Given the description of an element on the screen output the (x, y) to click on. 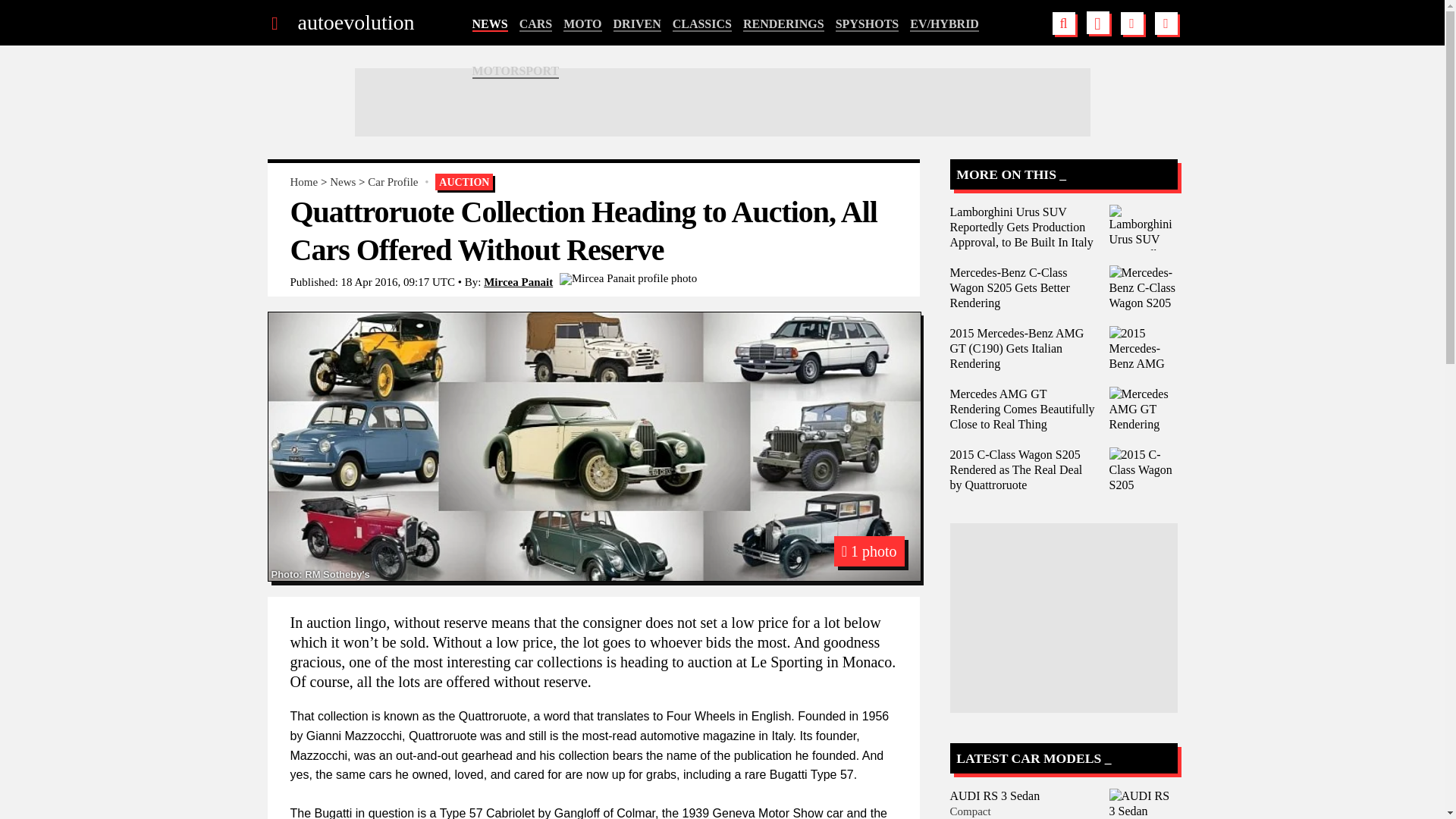
SPYSHOTS (867, 24)
Home (303, 182)
News (342, 182)
NEWS (488, 24)
autoevolution (355, 22)
CLASSICS (702, 24)
Car Profile (392, 182)
MOTO (582, 24)
autoevolution (355, 22)
RENDERINGS (783, 24)
